Given the description of an element on the screen output the (x, y) to click on. 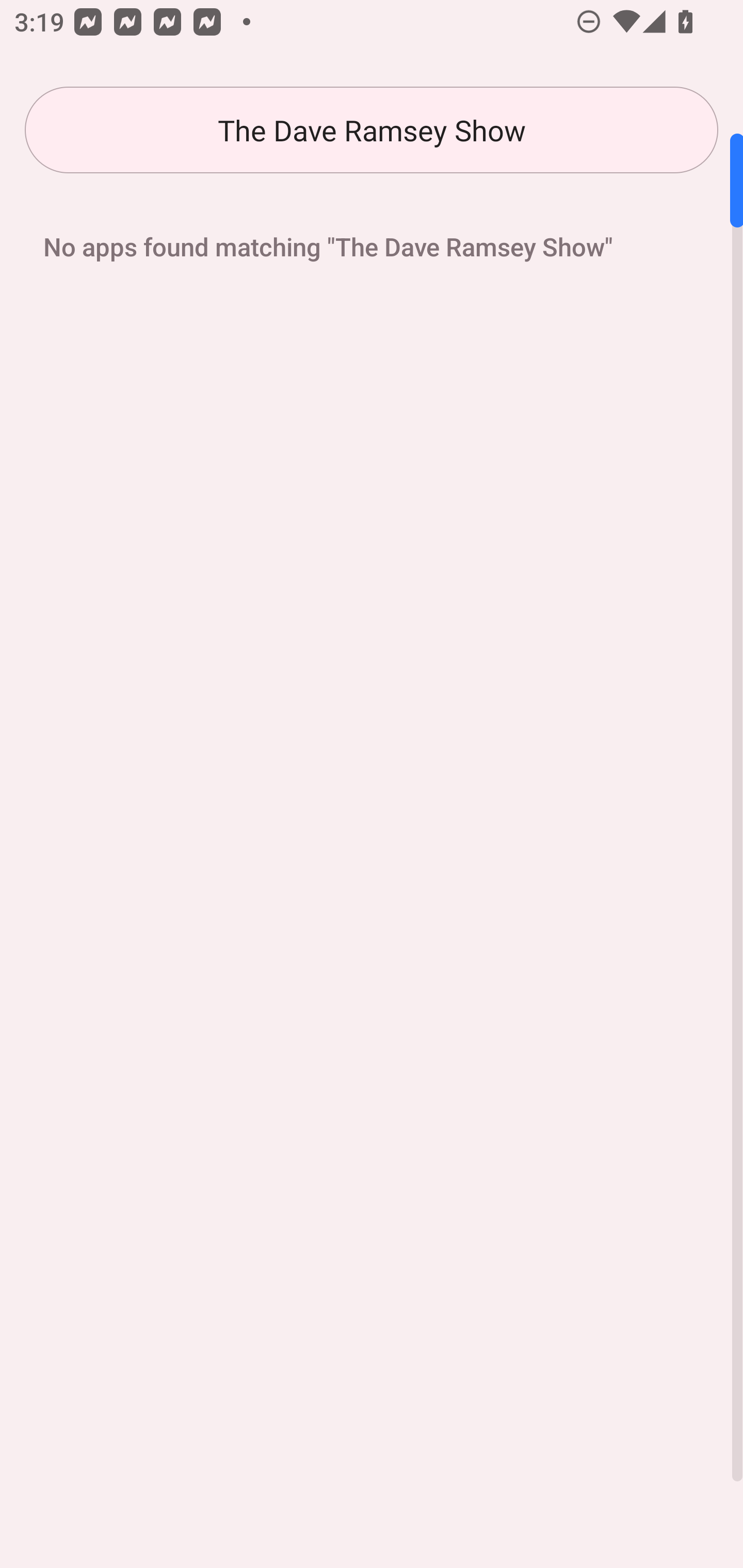
The Dave Ramsey Show (371, 130)
